Given the description of an element on the screen output the (x, y) to click on. 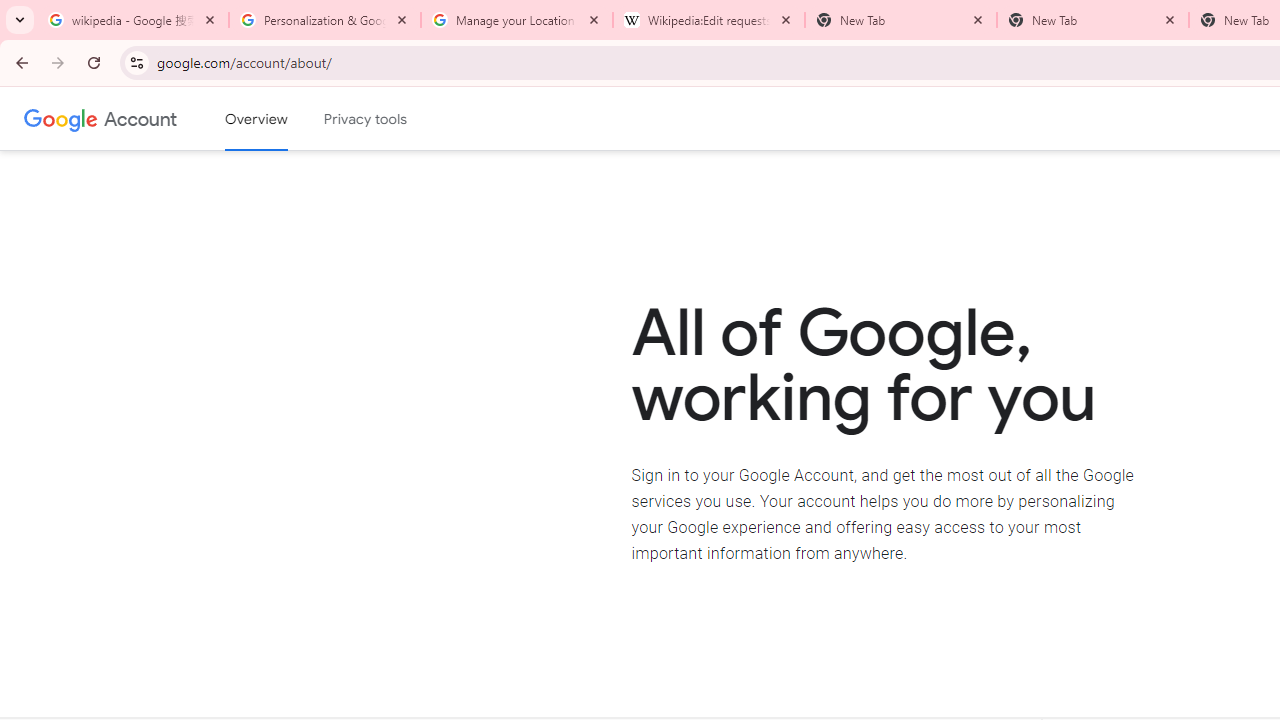
Google Account (140, 118)
Wikipedia:Edit requests - Wikipedia (709, 20)
